Given the description of an element on the screen output the (x, y) to click on. 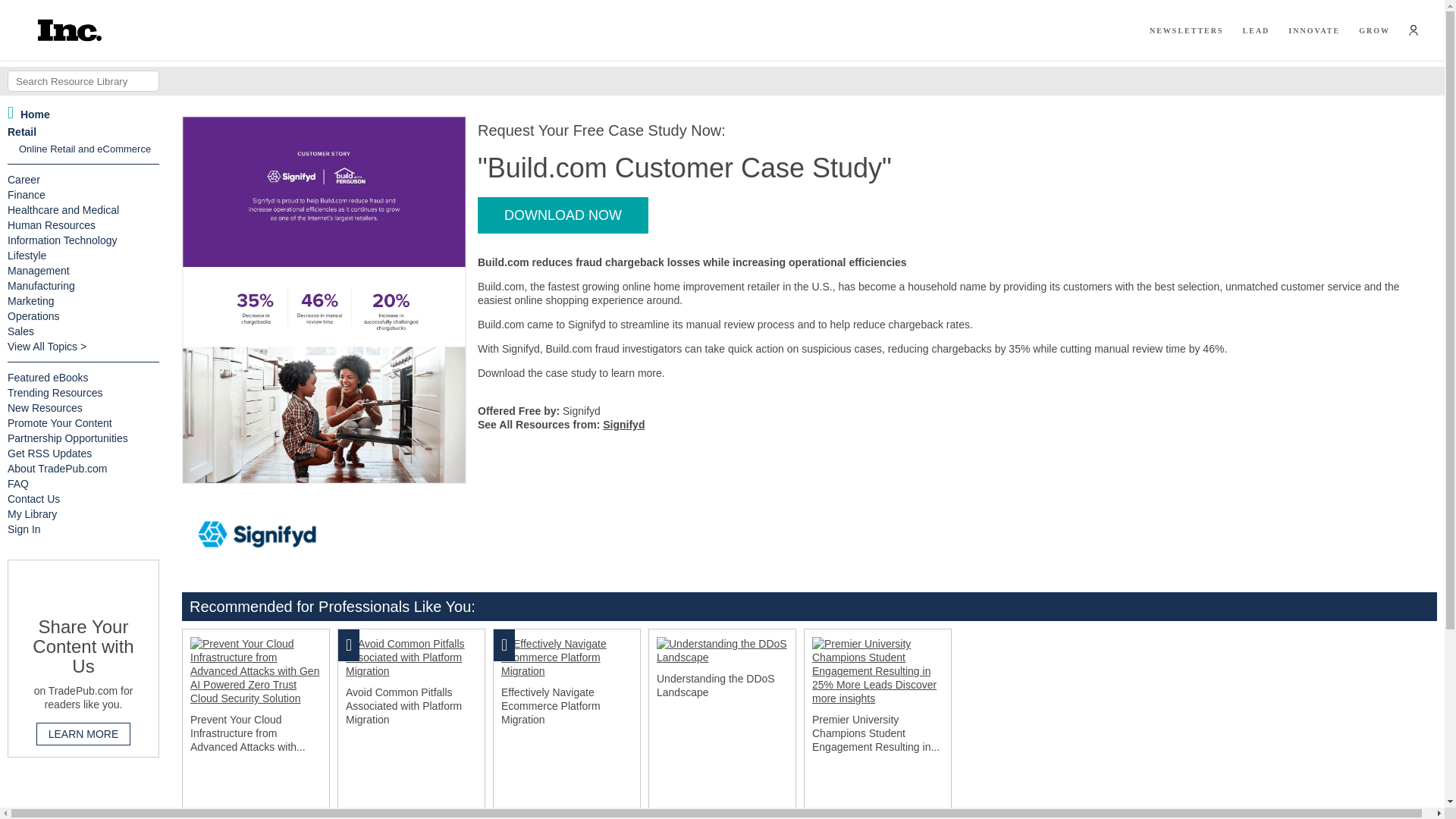
Continue to Grow on Inc.com (1374, 30)
Continue to Newsletters on Inc.com (1187, 30)
Continue to Innovate on Inc.com (1313, 30)
Continue to Lead on Inc.com (1256, 30)
